Given the description of an element on the screen output the (x, y) to click on. 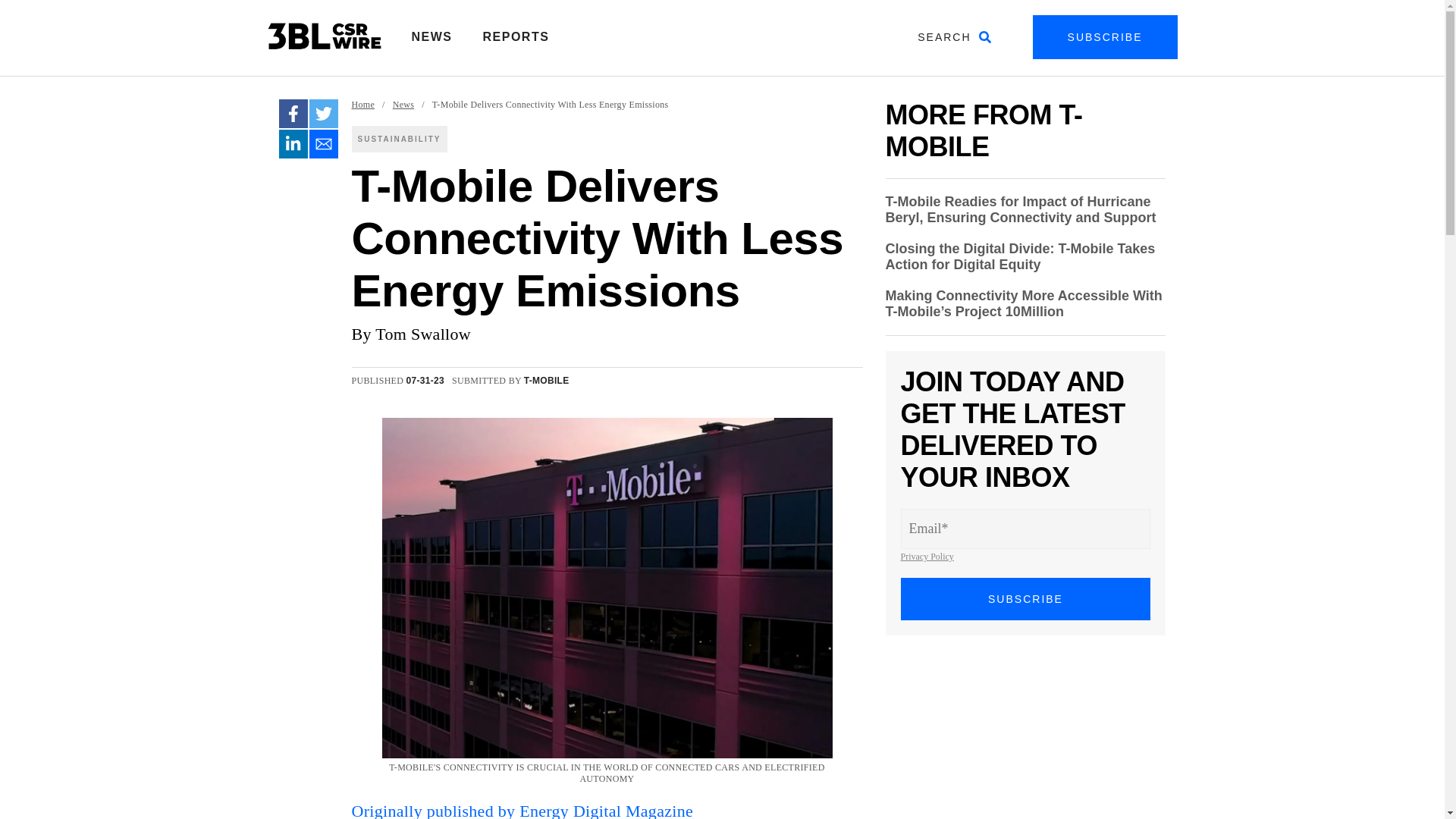
Twitter (322, 113)
SUBSCRIBE (1026, 598)
Linkedin (293, 143)
Privacy Policy (927, 556)
SUSTAINABILITY (399, 139)
SUBSCRIBE (1104, 36)
Facebook (293, 113)
Originally published by Energy Digital Magazine (523, 810)
Home (363, 104)
SEARCH (953, 36)
News (403, 104)
